Given the description of an element on the screen output the (x, y) to click on. 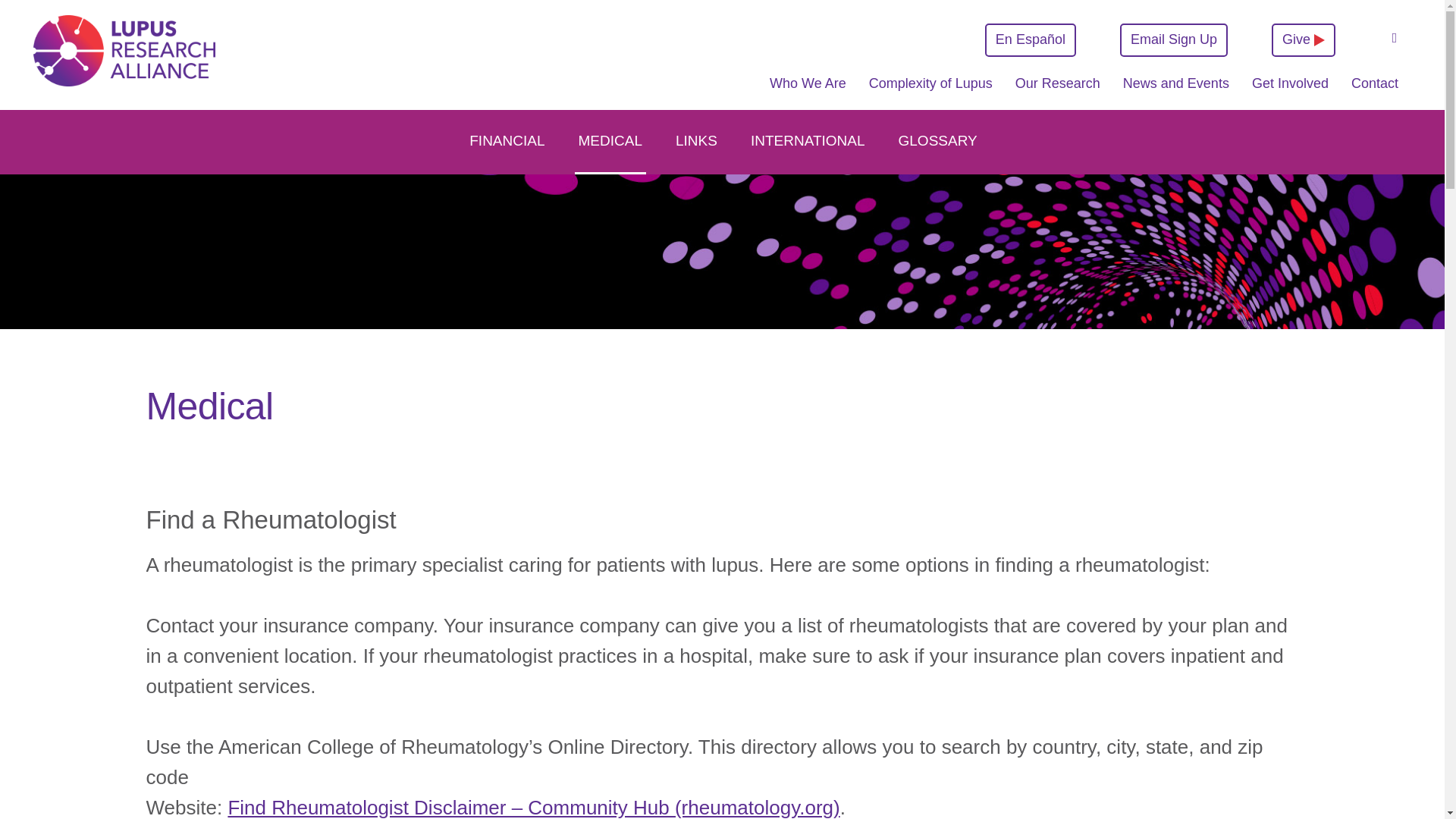
Email Sign Up (1173, 39)
Give (1303, 39)
Our Research (1057, 90)
Complexity of Lupus (930, 90)
Who We Are (807, 90)
Search (1393, 38)
